Given the description of an element on the screen output the (x, y) to click on. 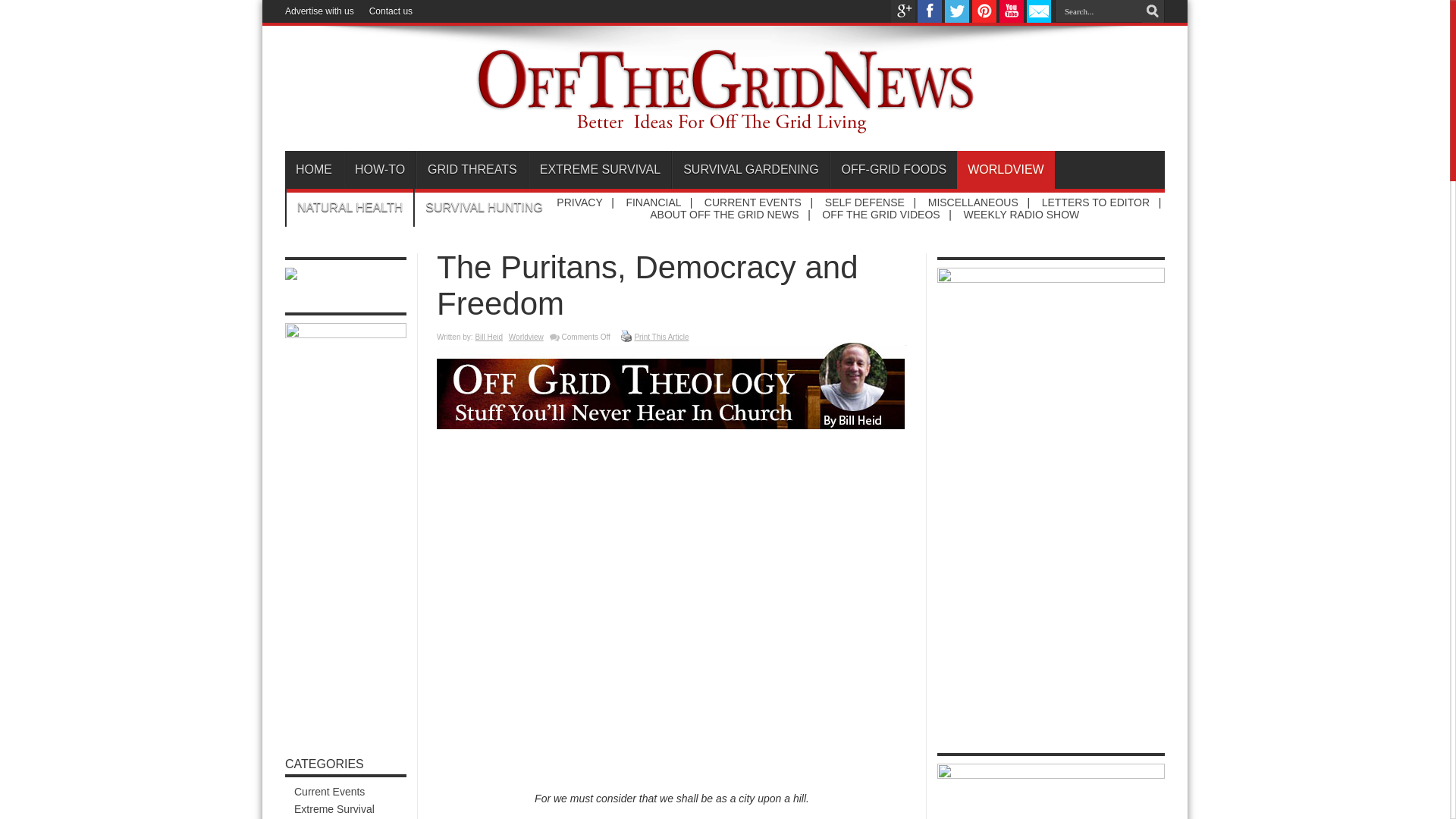
WEEKLY RADIO SHOW (1021, 214)
FINANCIAL (653, 202)
Worldview (525, 336)
Print This Article (660, 336)
MISCELLANEOUS (972, 202)
Advertise with us (319, 11)
Print This Article (625, 336)
Off The Grid News (725, 125)
SELF DEFENSE (864, 202)
HOW-TO (378, 169)
ABOUT OFF THE GRID NEWS (723, 214)
Search... (1097, 11)
CURRENT EVENTS (753, 202)
Search (1152, 11)
Contact us (390, 11)
